Given the description of an element on the screen output the (x, y) to click on. 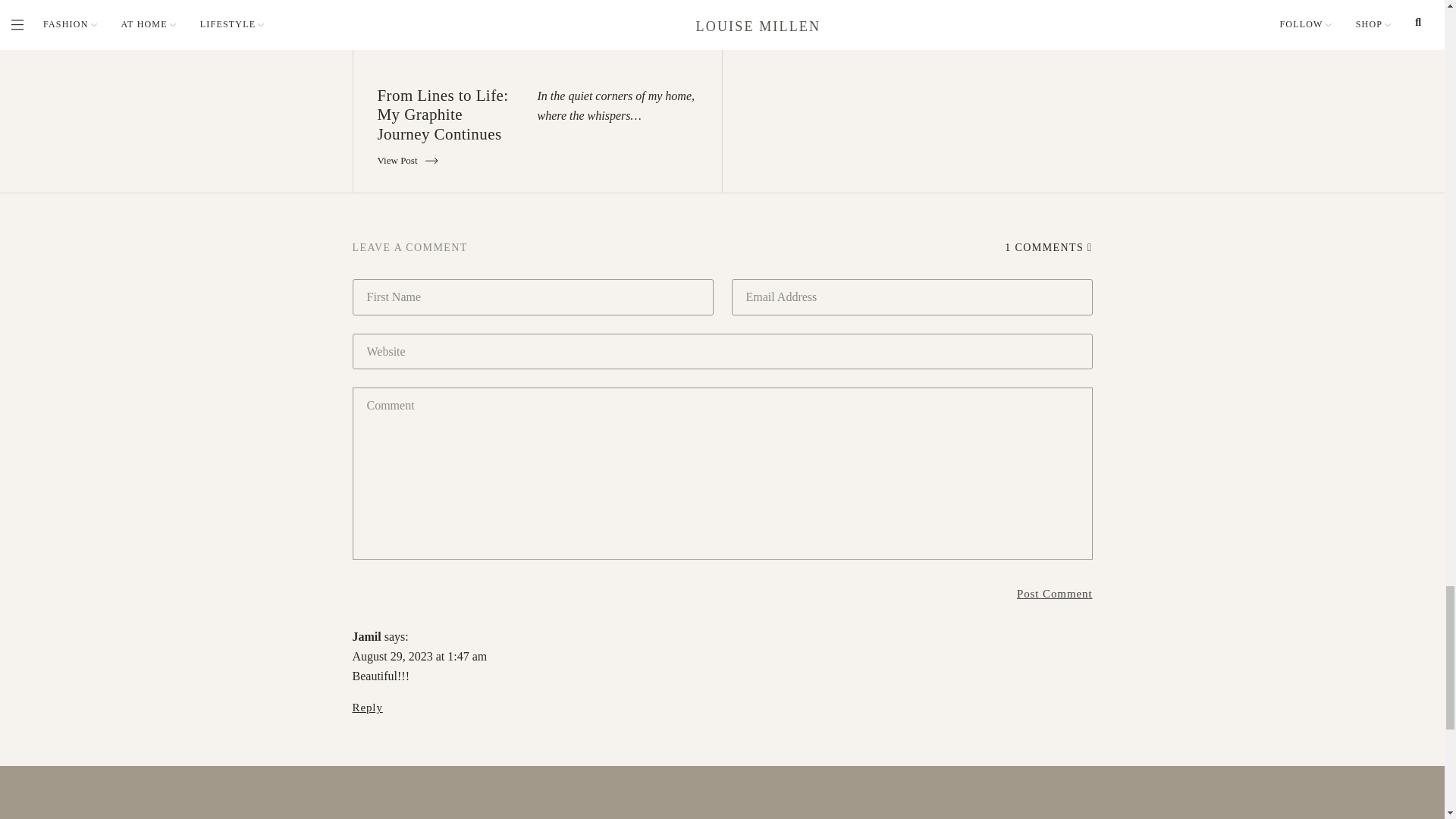
Post Comment (1054, 593)
